Given the description of an element on the screen output the (x, y) to click on. 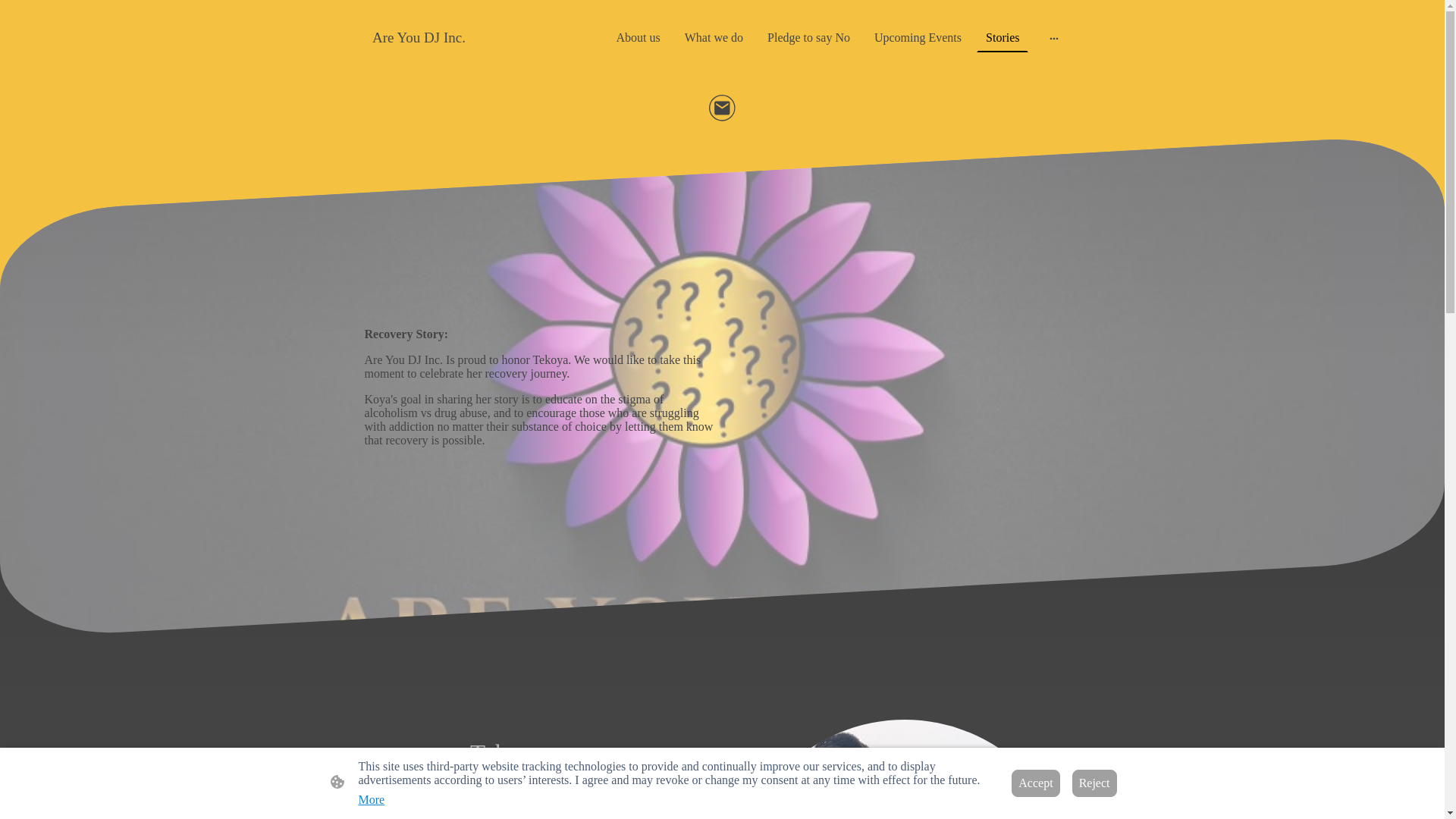
Reject (1093, 782)
Upcoming Events (917, 37)
More (371, 799)
Accept (1035, 782)
What we do (714, 37)
About us (638, 37)
Pledge to say No (808, 37)
Stories (1002, 37)
Are You DJ Inc. (418, 37)
